Given the description of an element on the screen output the (x, y) to click on. 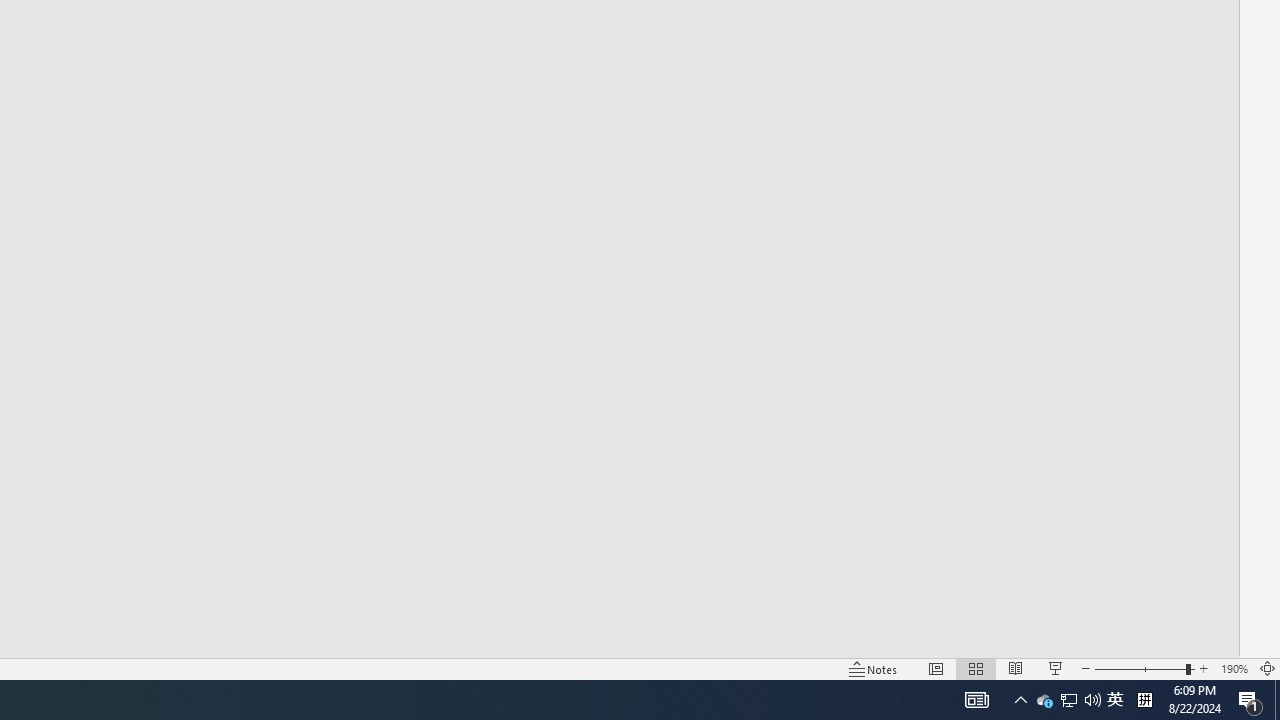
Zoom 190% (1234, 668)
